Given the description of an element on the screen output the (x, y) to click on. 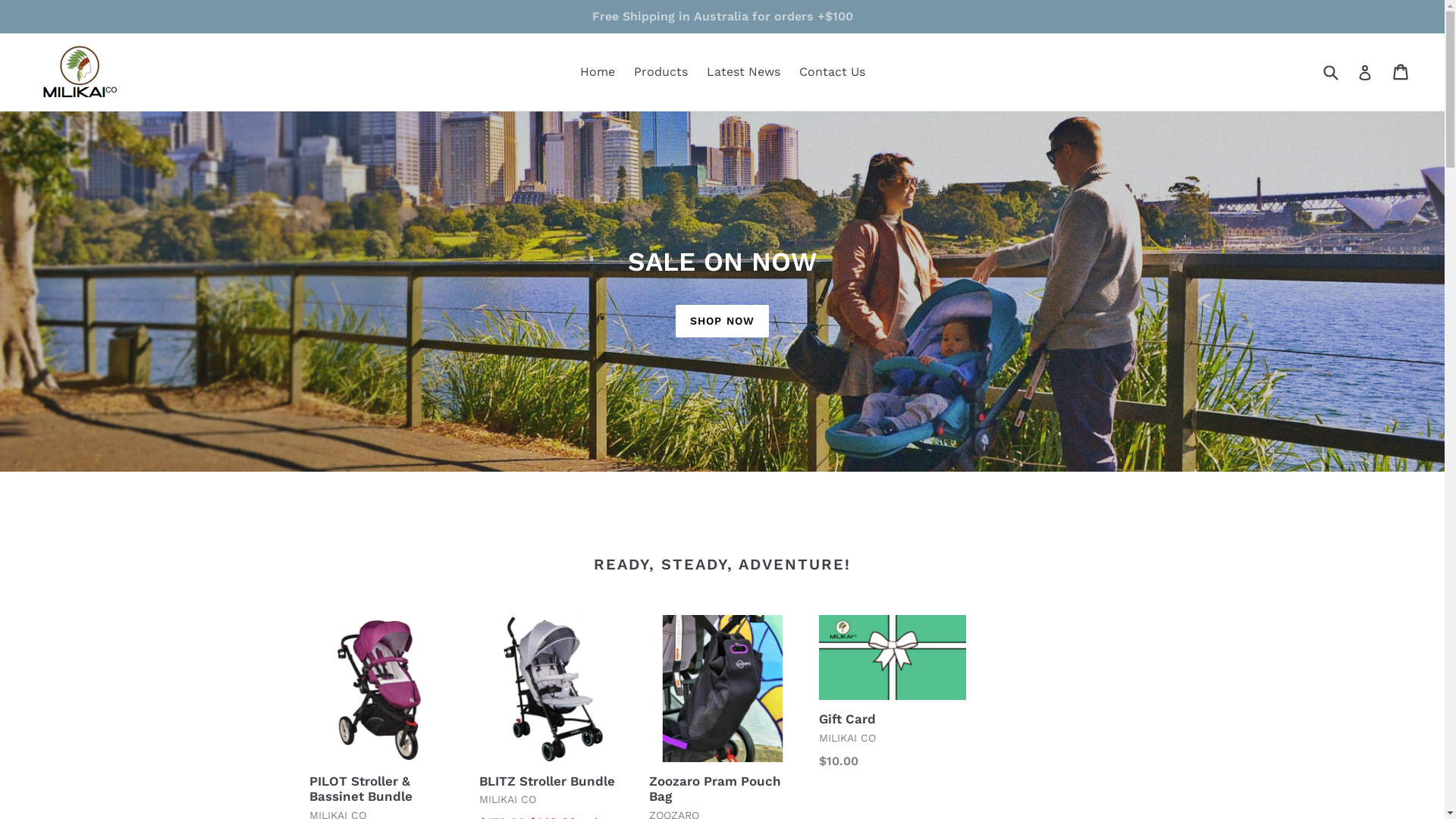
Free Shipping in Australia for orders +$100 Element type: text (722, 16)
Log in Element type: text (1364, 71)
SHOP NOW Element type: text (721, 320)
Submit Element type: text (1329, 71)
Products Element type: text (660, 71)
Home Element type: text (596, 71)
Latest News Element type: text (743, 71)
Contact Us Element type: text (831, 71)
Cart
Cart Element type: text (1401, 71)
Gift Card
MILIKAI CO
$10.00 Element type: text (892, 692)
